Given the description of an element on the screen output the (x, y) to click on. 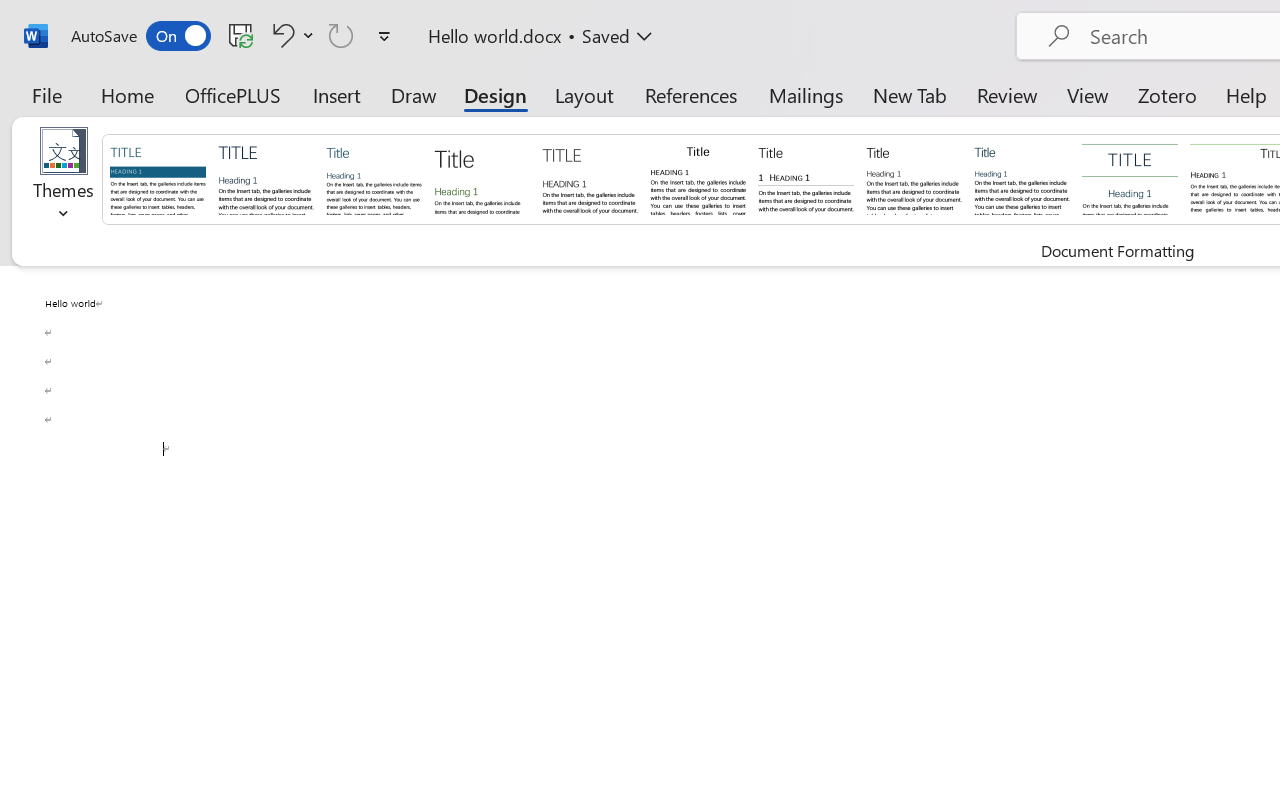
References (690, 94)
New Tab (909, 94)
Draw (413, 94)
Undo Apply Quick Style Set (290, 35)
Centered (1130, 178)
Zotero (1166, 94)
Themes (63, 179)
Black & White (Classic) (697, 178)
Design (495, 94)
More Options (308, 35)
File Tab (46, 94)
Customize Quick Access Toolbar (384, 35)
Black & White (Capitalized) (589, 178)
Can't Repeat (341, 35)
OfficePLUS (233, 94)
